Given the description of an element on the screen output the (x, y) to click on. 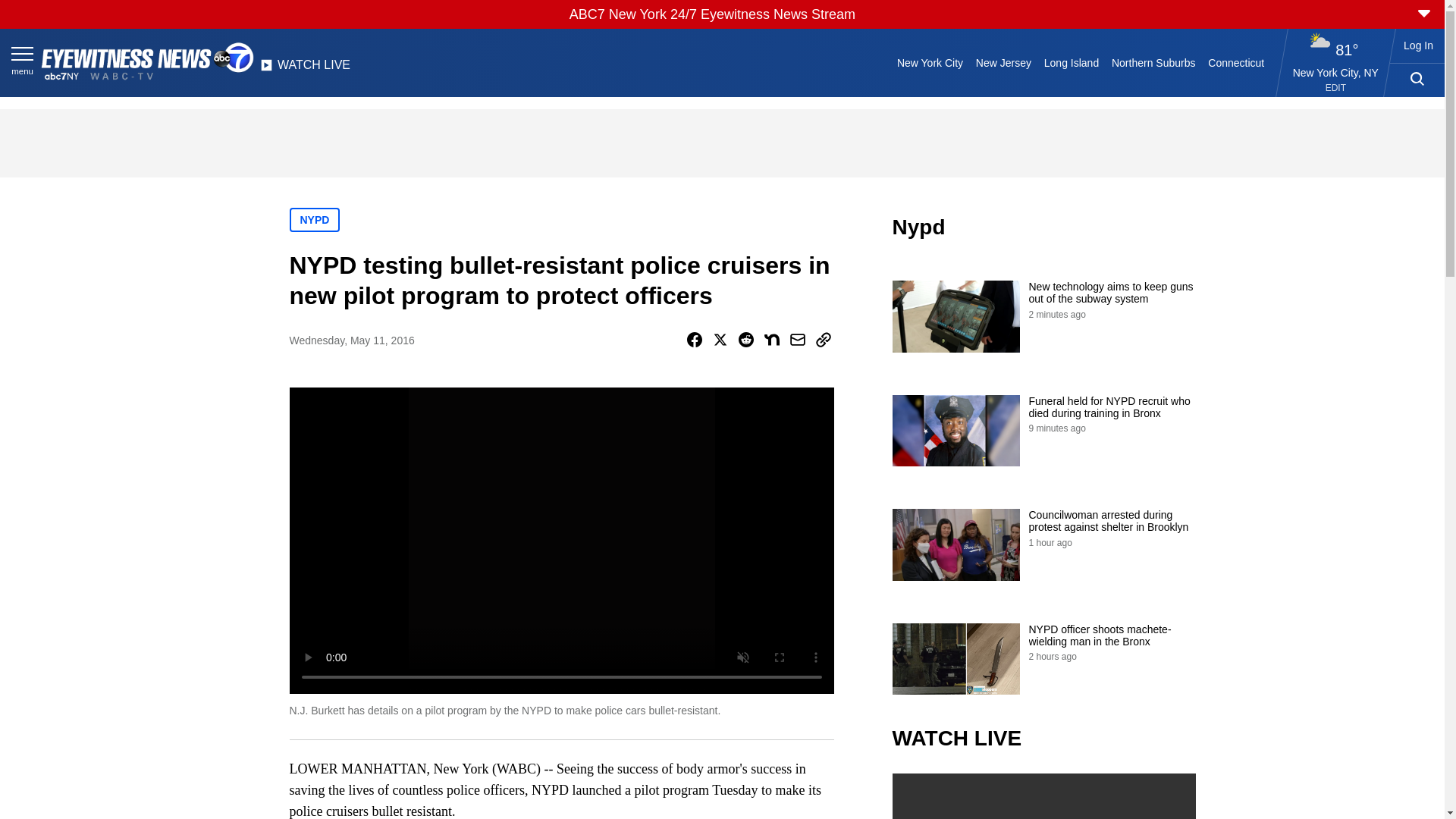
New Jersey (1002, 62)
Northern Suburbs (1153, 62)
New York City (930, 62)
New York City, NY (1335, 72)
Long Island (1070, 62)
Connecticut (1236, 62)
WATCH LIVE (305, 69)
video.title (1043, 796)
EDIT (1334, 87)
